Given the description of an element on the screen output the (x, y) to click on. 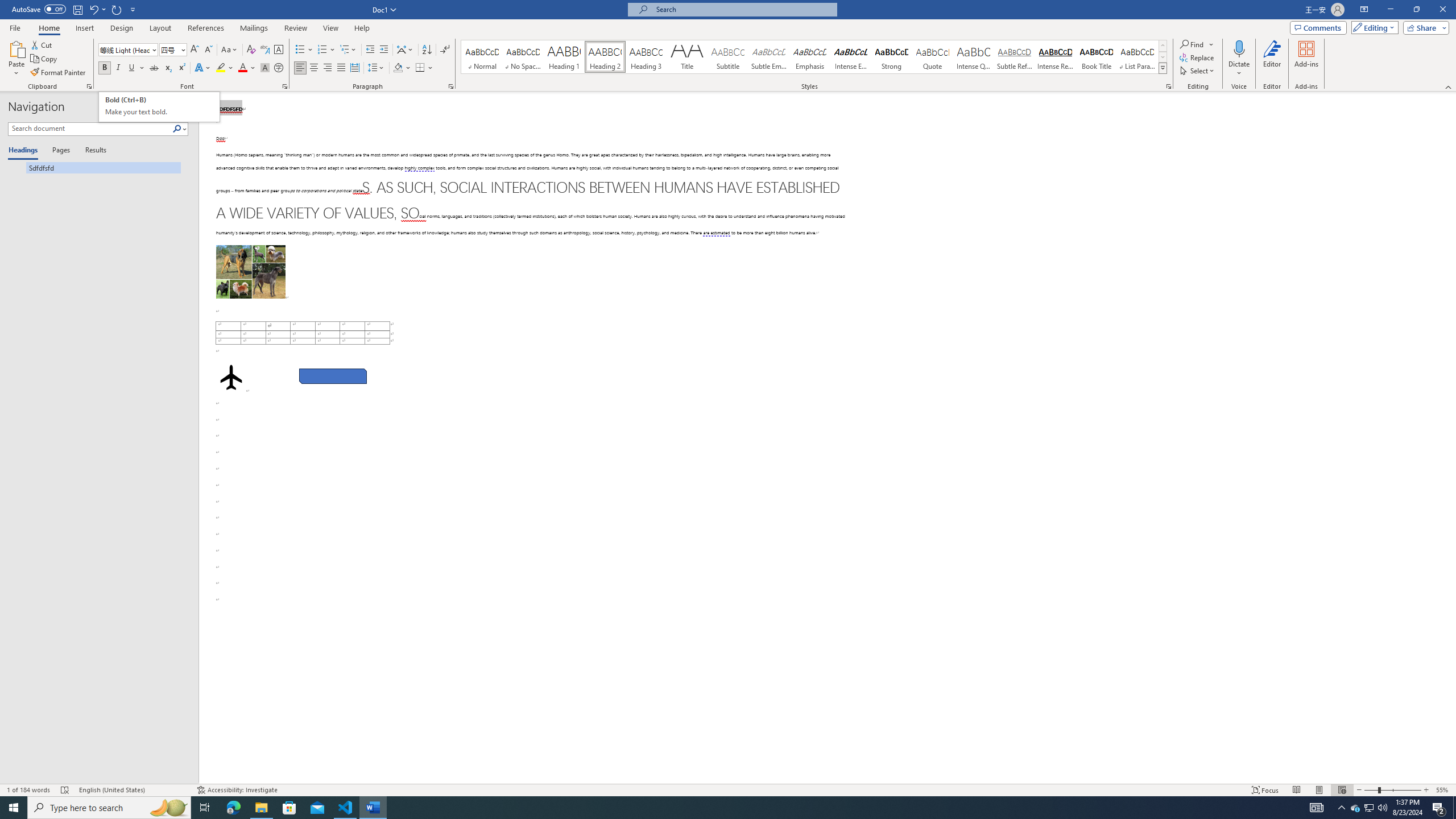
Web Layout (1342, 790)
Asian Layout (405, 49)
Intense Emphasis (849, 56)
Find (1197, 44)
Close pane (185, 107)
Character Border (278, 49)
Mode (1372, 27)
Text Highlight Color (224, 67)
Repeat Bold (117, 9)
Print Layout (1318, 790)
Styles (1162, 67)
Subtitle (727, 56)
